Given the description of an element on the screen output the (x, y) to click on. 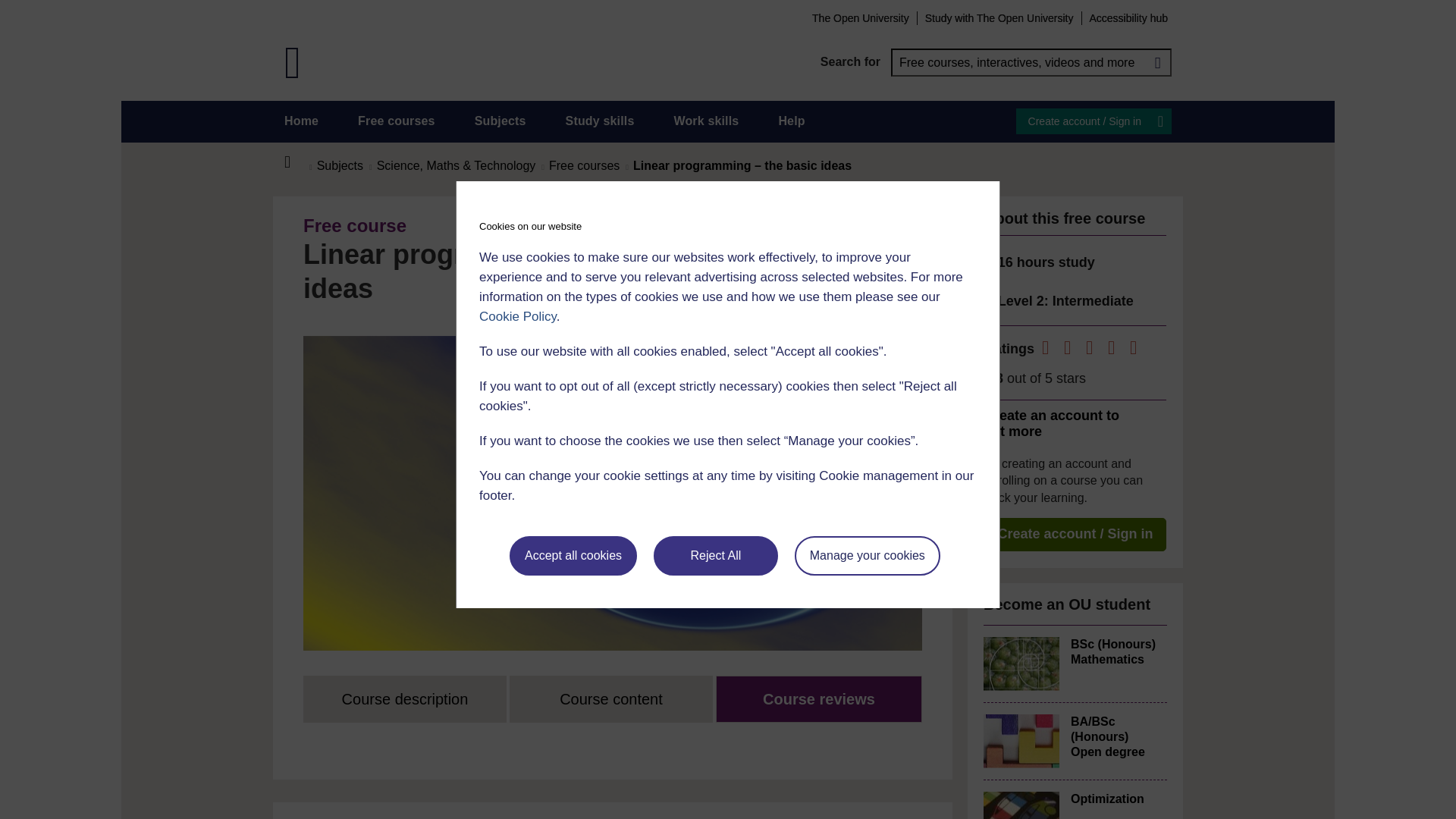
Course content (611, 698)
Free courses (396, 120)
Reject All (715, 555)
Search (1157, 62)
Home (300, 120)
Home (295, 162)
Manage your cookies (867, 555)
Help (791, 120)
Subjects (499, 120)
Accept all cookies (573, 555)
